Given the description of an element on the screen output the (x, y) to click on. 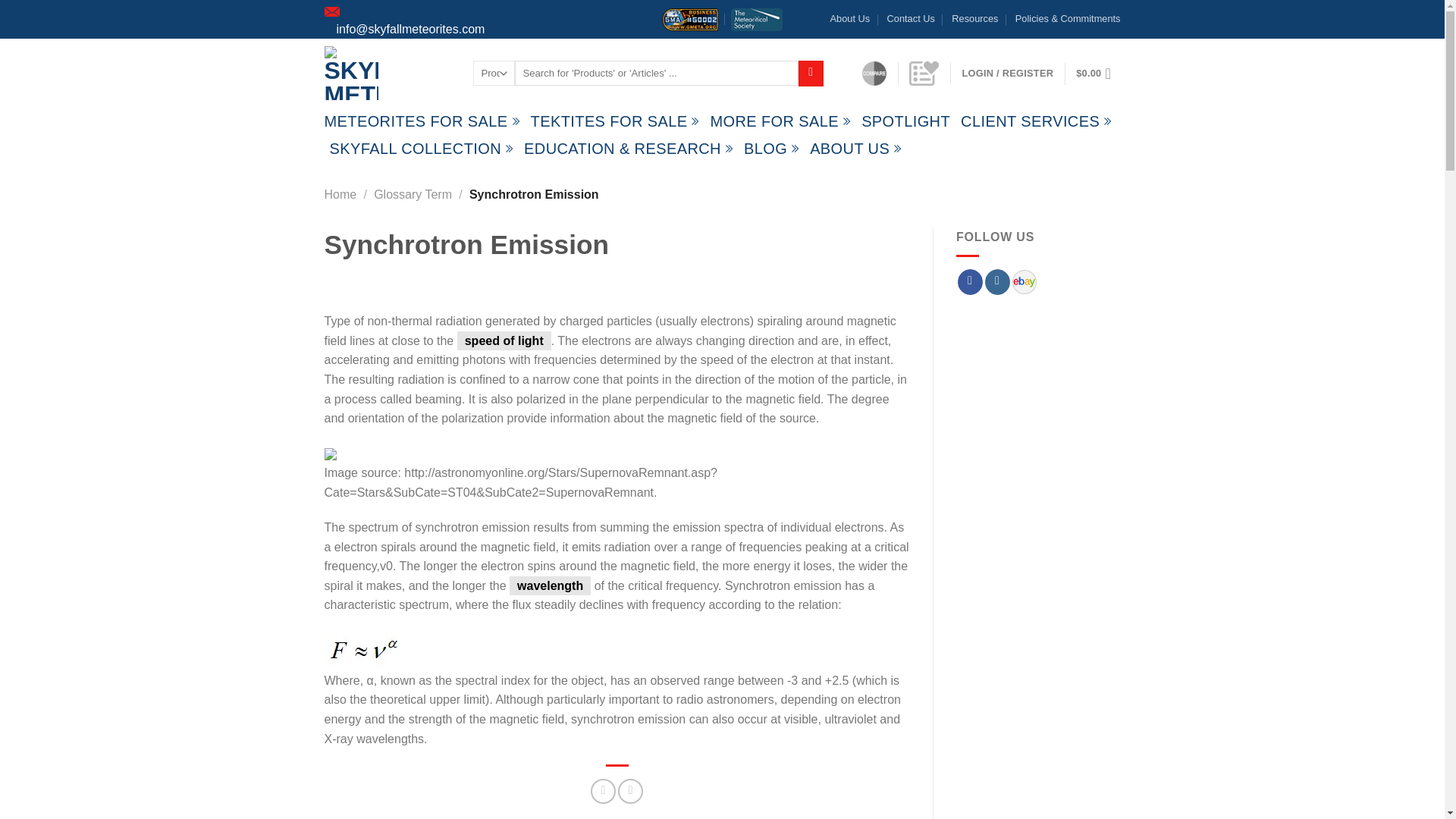
Follow on Ebay (1023, 281)
Email to a Friend (630, 790)
Search (810, 73)
Follow on Instagram (997, 281)
Share on Facebook (603, 790)
Contact Us (910, 18)
METEORITES FOR SALE (421, 121)
Follow on Facebook (970, 281)
About Us (849, 18)
Cart (1097, 73)
Resources (974, 18)
